Given the description of an element on the screen output the (x, y) to click on. 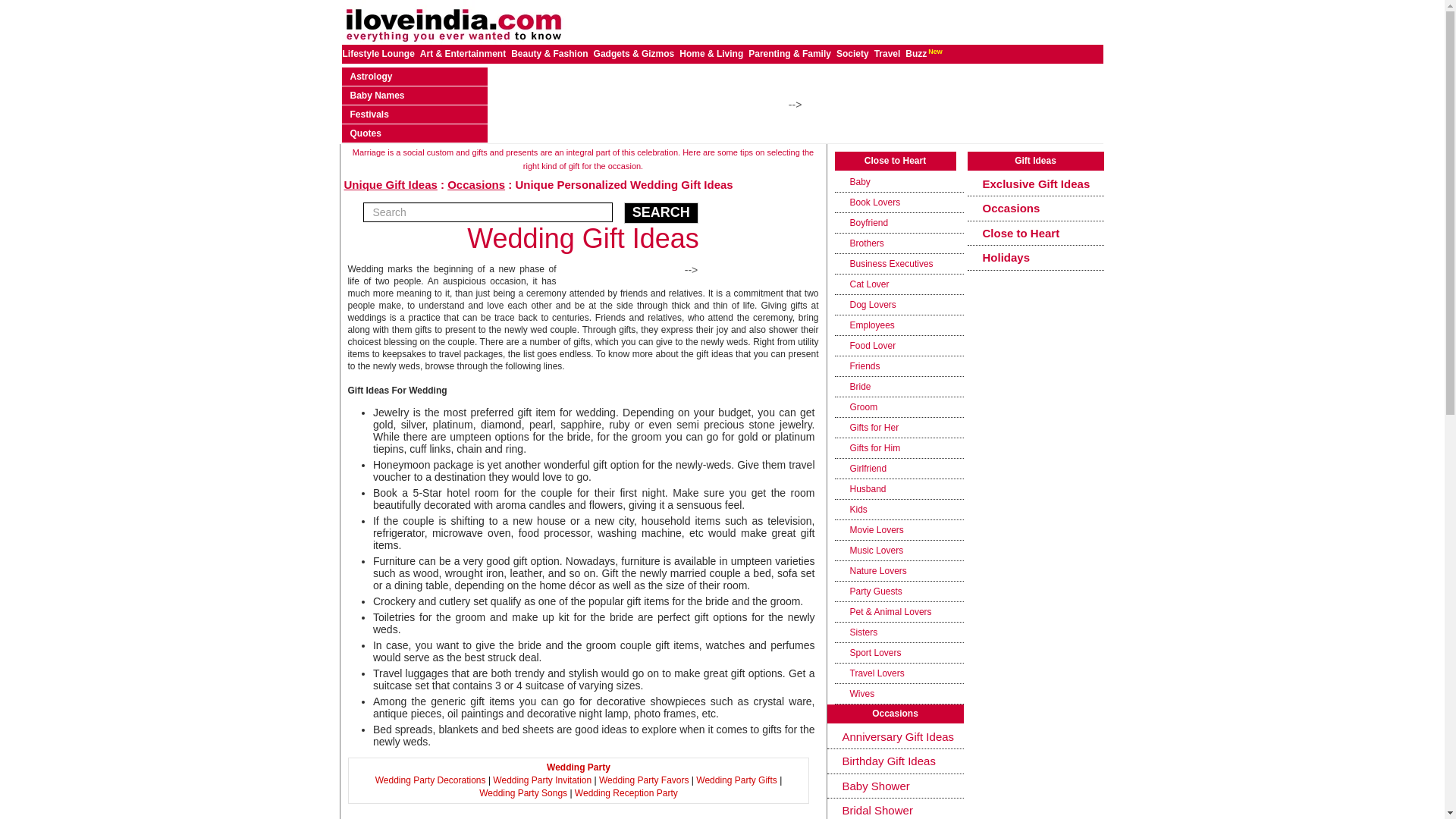
Astrology (371, 76)
Lifestyle Lounge (379, 53)
Occasions (475, 184)
Baby Names (377, 95)
SEARCH (661, 212)
Wedding Party Favors (643, 779)
Wedding Party Decorations (430, 779)
Festivals (369, 113)
Unique Gift Ideas (390, 184)
Quotes (365, 132)
